Given the description of an element on the screen output the (x, y) to click on. 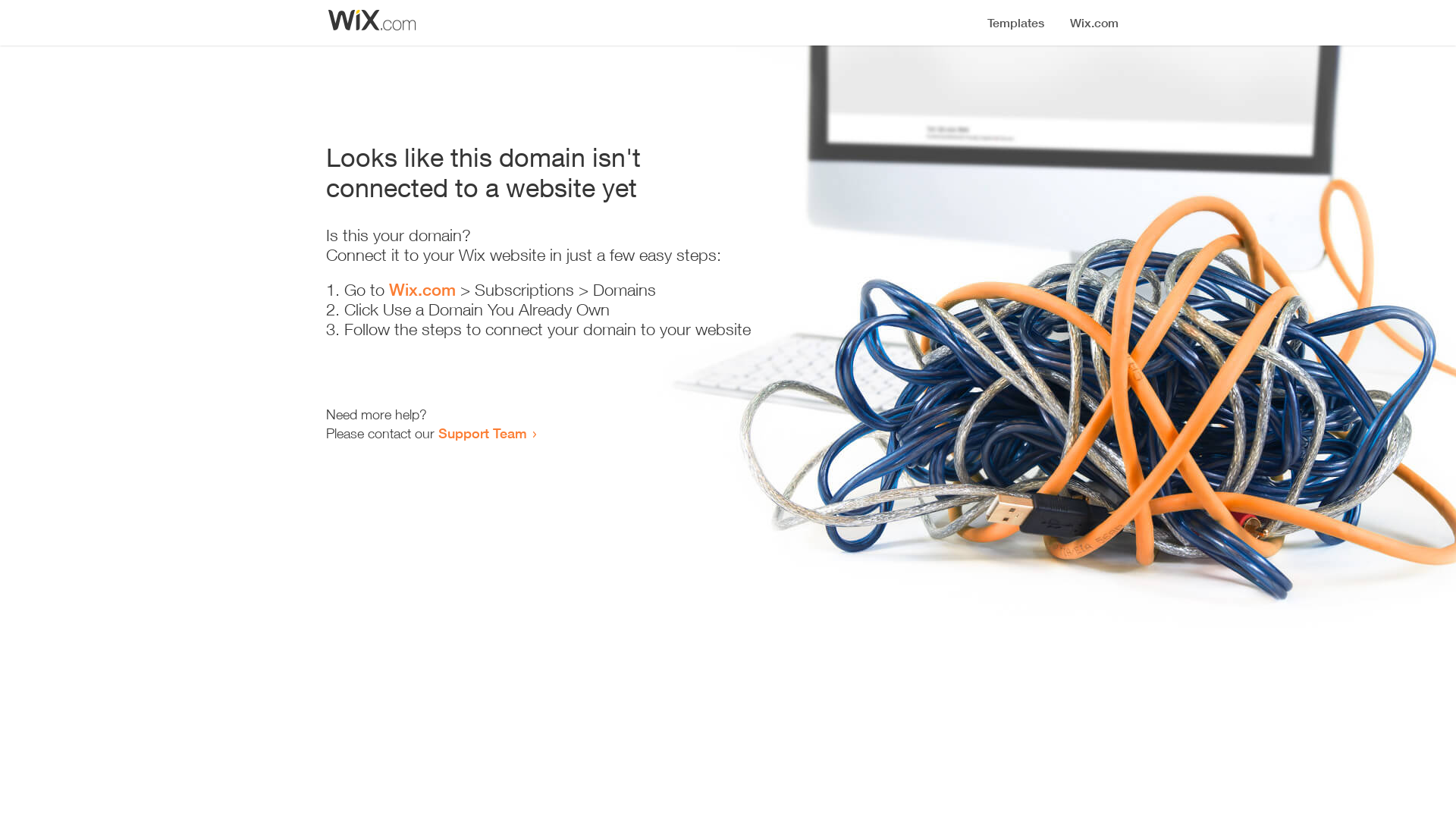
Support Team Element type: text (482, 432)
Wix.com Element type: text (422, 289)
